Given the description of an element on the screen output the (x, y) to click on. 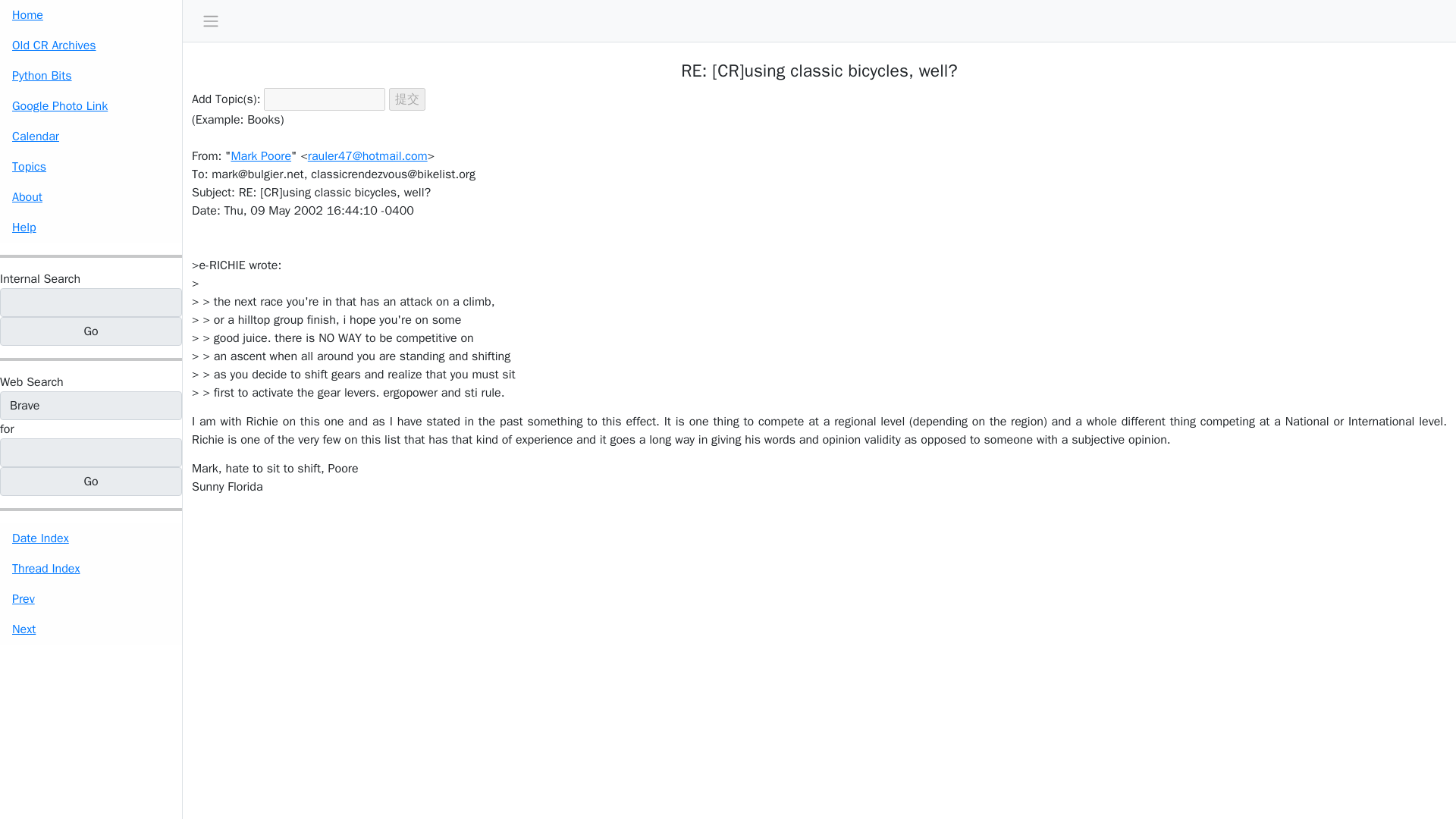
Enter a word or phrase to search the archive. (40, 279)
Go (91, 330)
About (91, 196)
Thread Index (91, 568)
Calendar (91, 136)
Select your preferred search engine and enter a search term. (32, 382)
Google Photo Link (91, 105)
Prev (91, 598)
Python Bits (91, 75)
Go (91, 330)
